Given the description of an element on the screen output the (x, y) to click on. 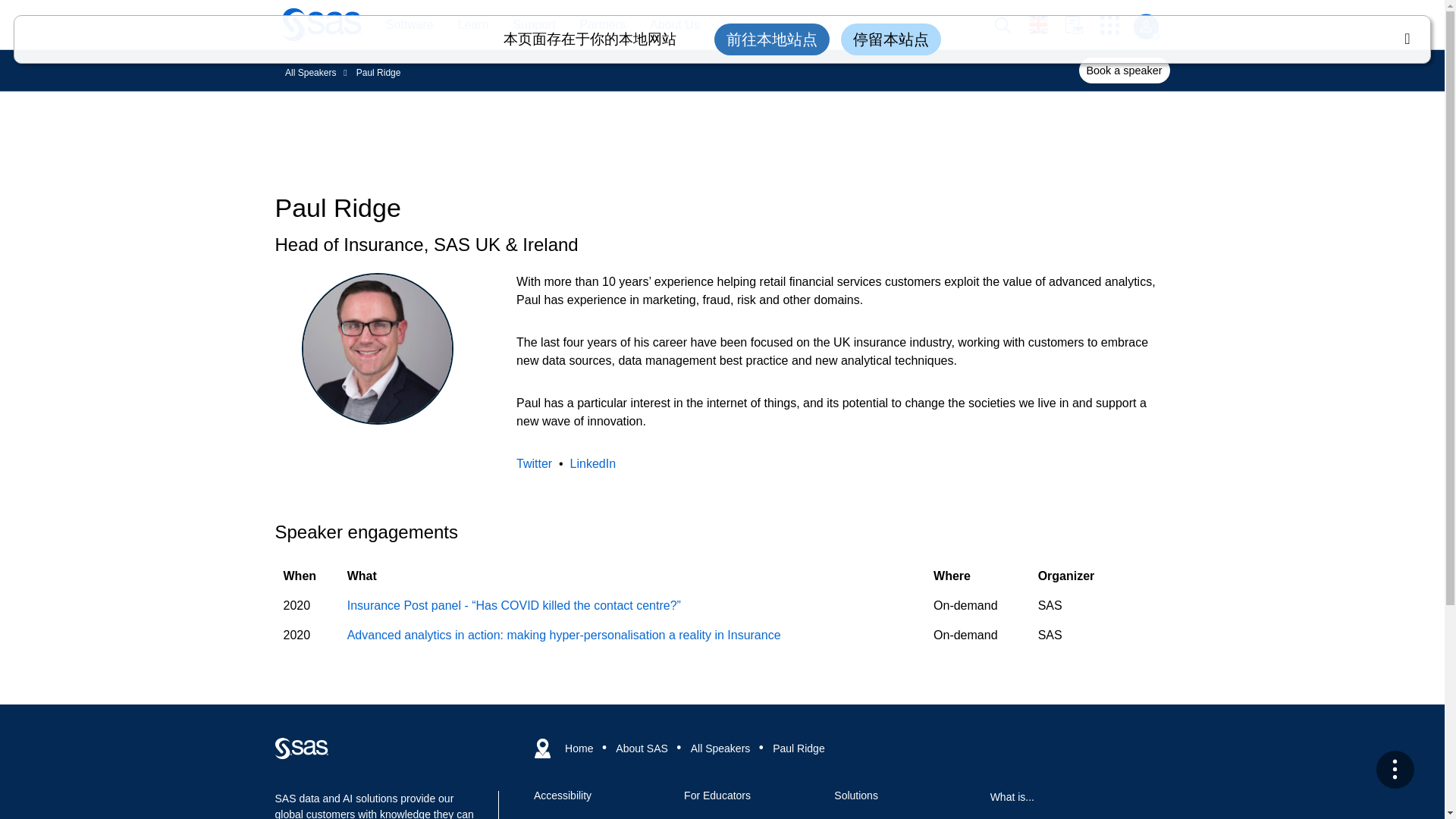
Software (409, 24)
Learn (472, 24)
Learn (465, 24)
Partners (595, 24)
Support (534, 24)
Sign In (1145, 26)
Software (401, 24)
Worldwide Sites (1046, 24)
Contact Us (1082, 25)
Web (301, 748)
About Us (667, 24)
Support (526, 24)
Partners (602, 24)
About Us (674, 24)
